Given the description of an element on the screen output the (x, y) to click on. 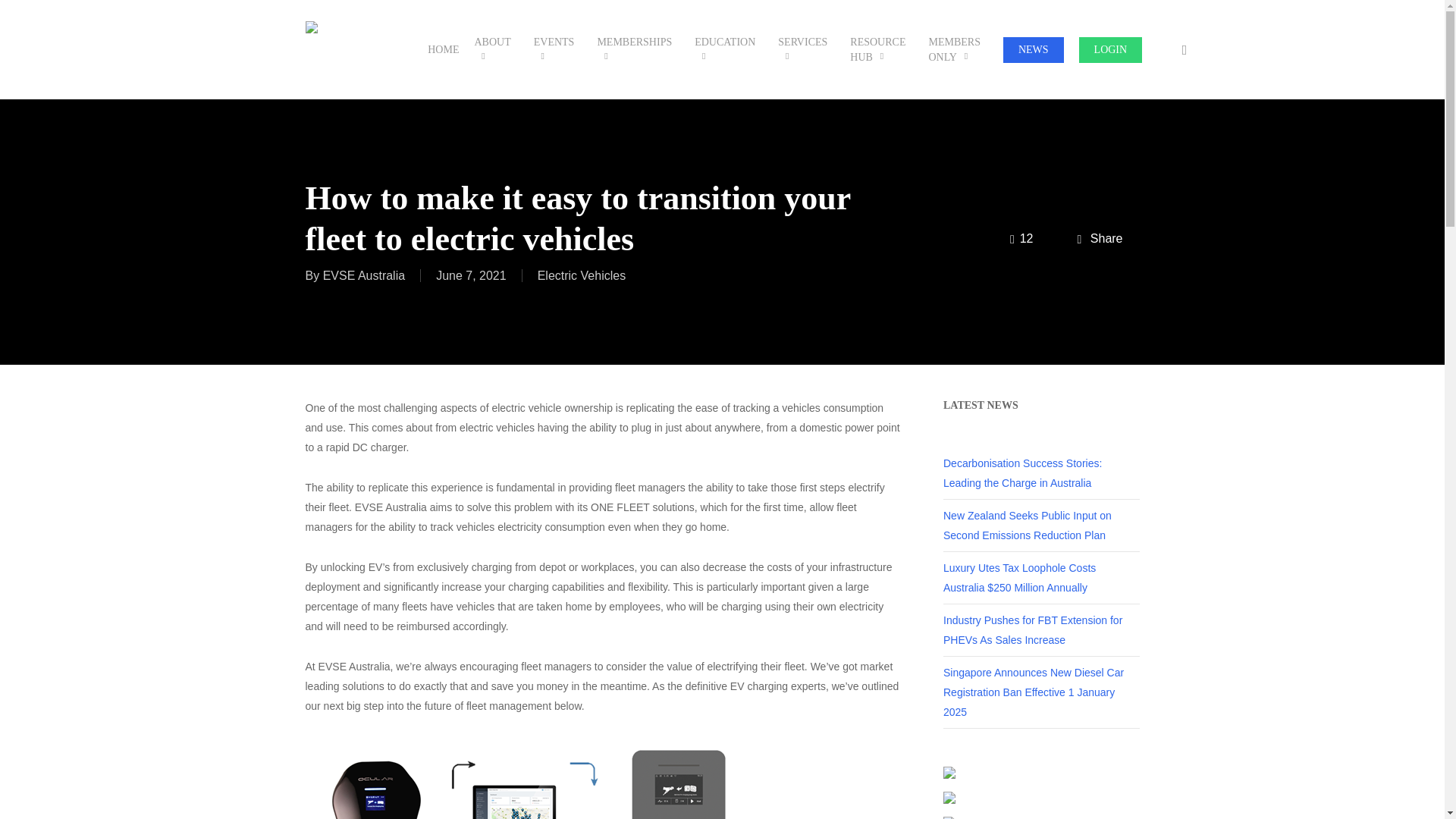
HOME (442, 49)
Love this (1020, 239)
EDUCATION (728, 50)
ABOUT (495, 50)
MEMBERSHIPS (638, 50)
EVENTS (557, 50)
Posts by EVSE Australia (364, 275)
